Given the description of an element on the screen output the (x, y) to click on. 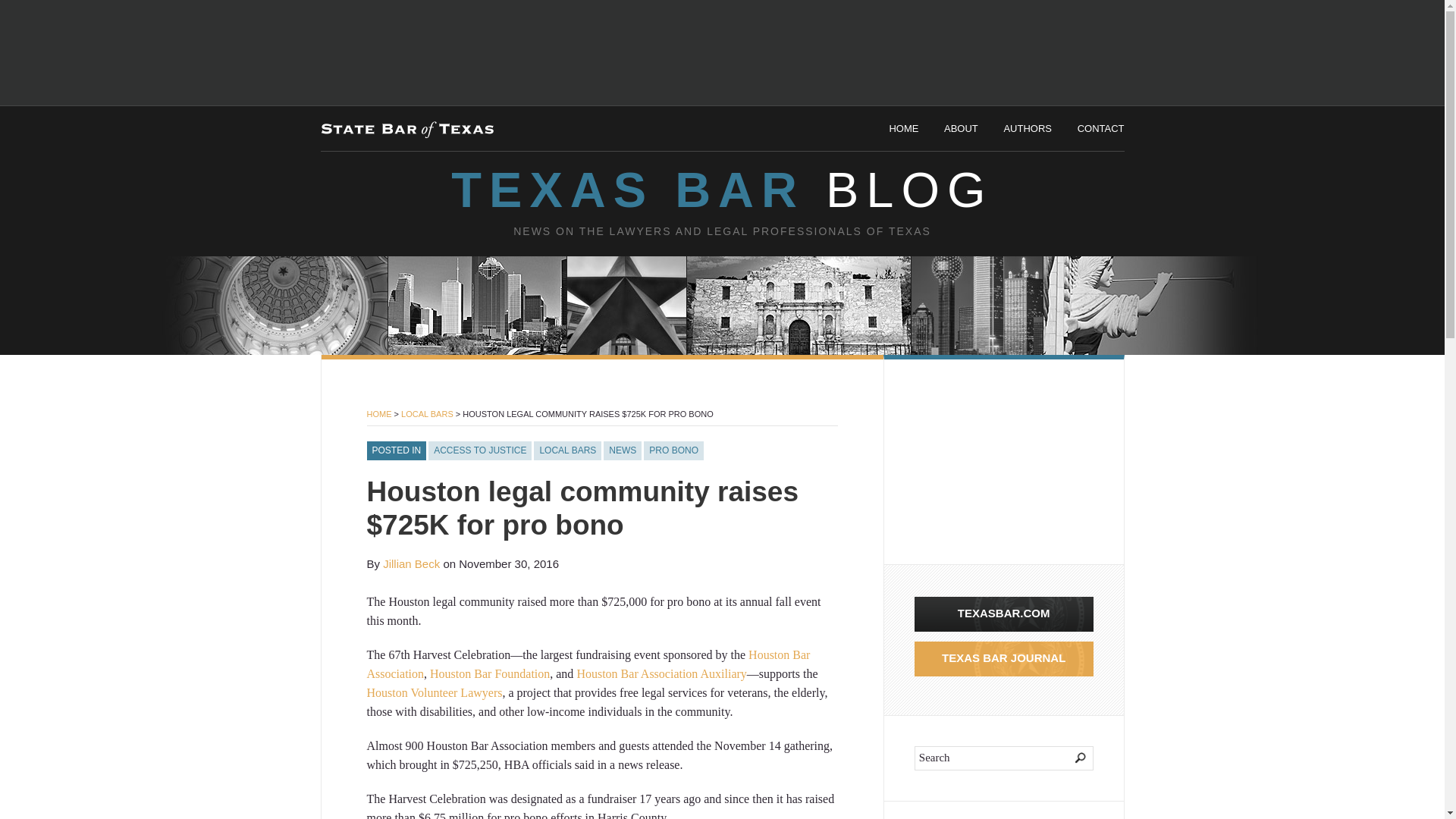
TEXAS BAR BLOG (721, 189)
ABOUT (960, 128)
TEXAS BAR JOURNAL (1003, 658)
Go (1070, 757)
Houston Volunteer Lawyers (434, 692)
ACCESS TO JUSTICE (479, 451)
LOCAL BARS (567, 451)
Search (1003, 758)
Houston Bar Association (588, 664)
HOME (903, 128)
